Given the description of an element on the screen output the (x, y) to click on. 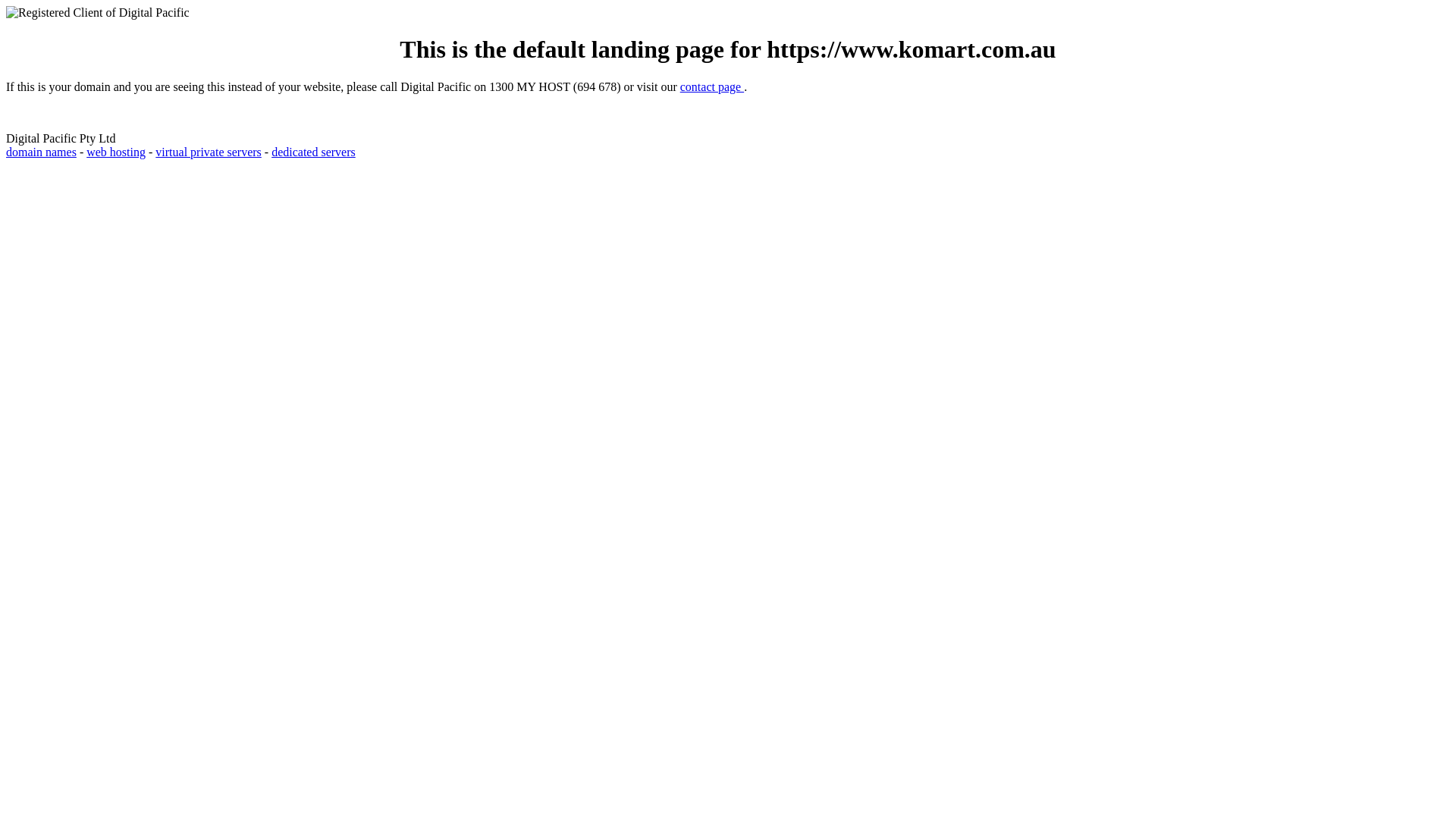
dedicated servers Element type: text (313, 151)
web hosting Element type: text (115, 151)
contact page Element type: text (711, 86)
virtual private servers Element type: text (208, 151)
domain names Element type: text (41, 151)
